Given the description of an element on the screen output the (x, y) to click on. 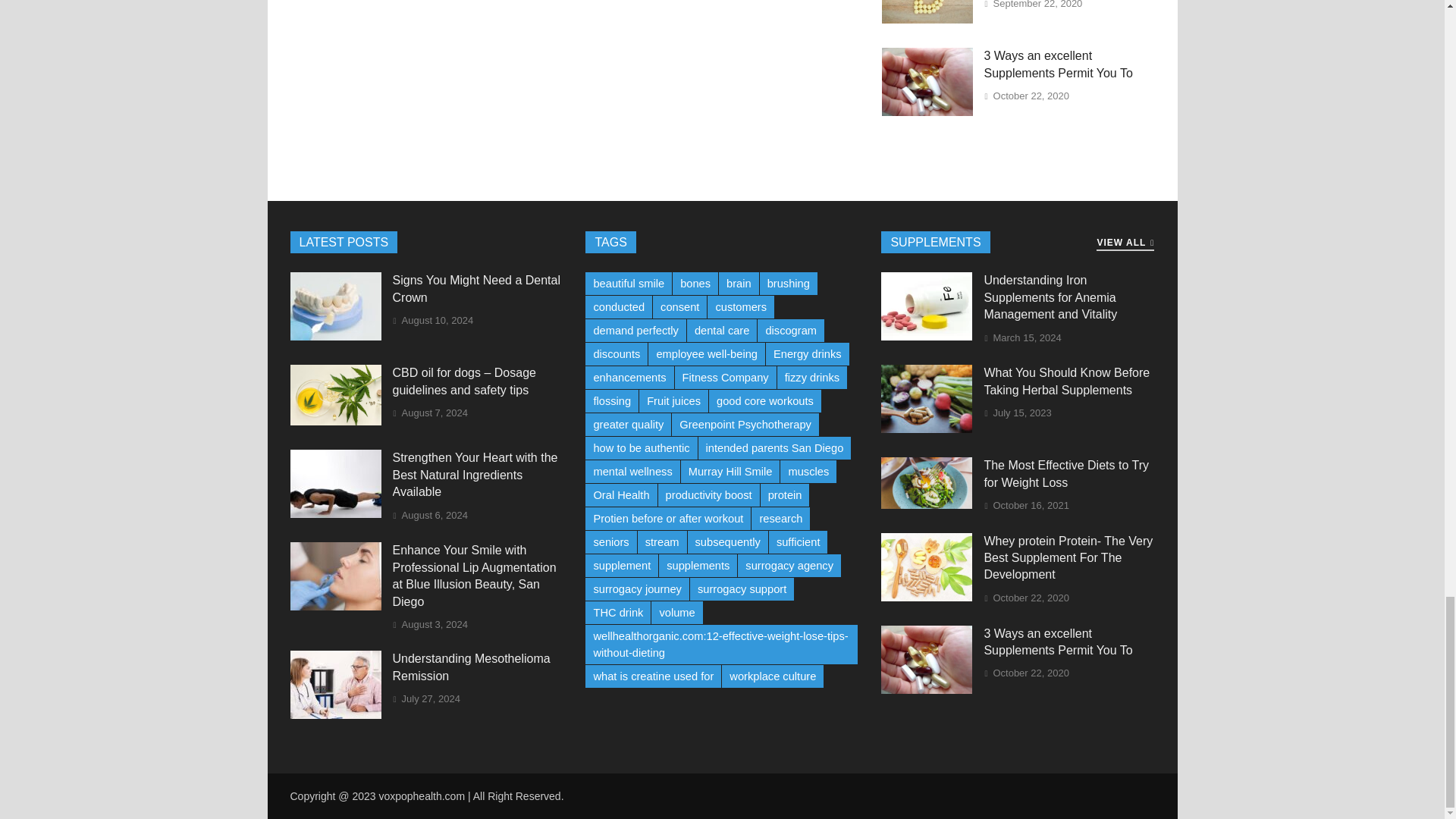
3 Ways an excellent Supplements Permit You To (927, 111)
The Most Effective Diets to Try for Weight Loss (926, 504)
What You Should Know Before Taking Herbal Supplements (926, 428)
Understanding Mesothelioma Remission (334, 714)
Signs You Might Need a Dental Crown (334, 336)
